Given the description of an element on the screen output the (x, y) to click on. 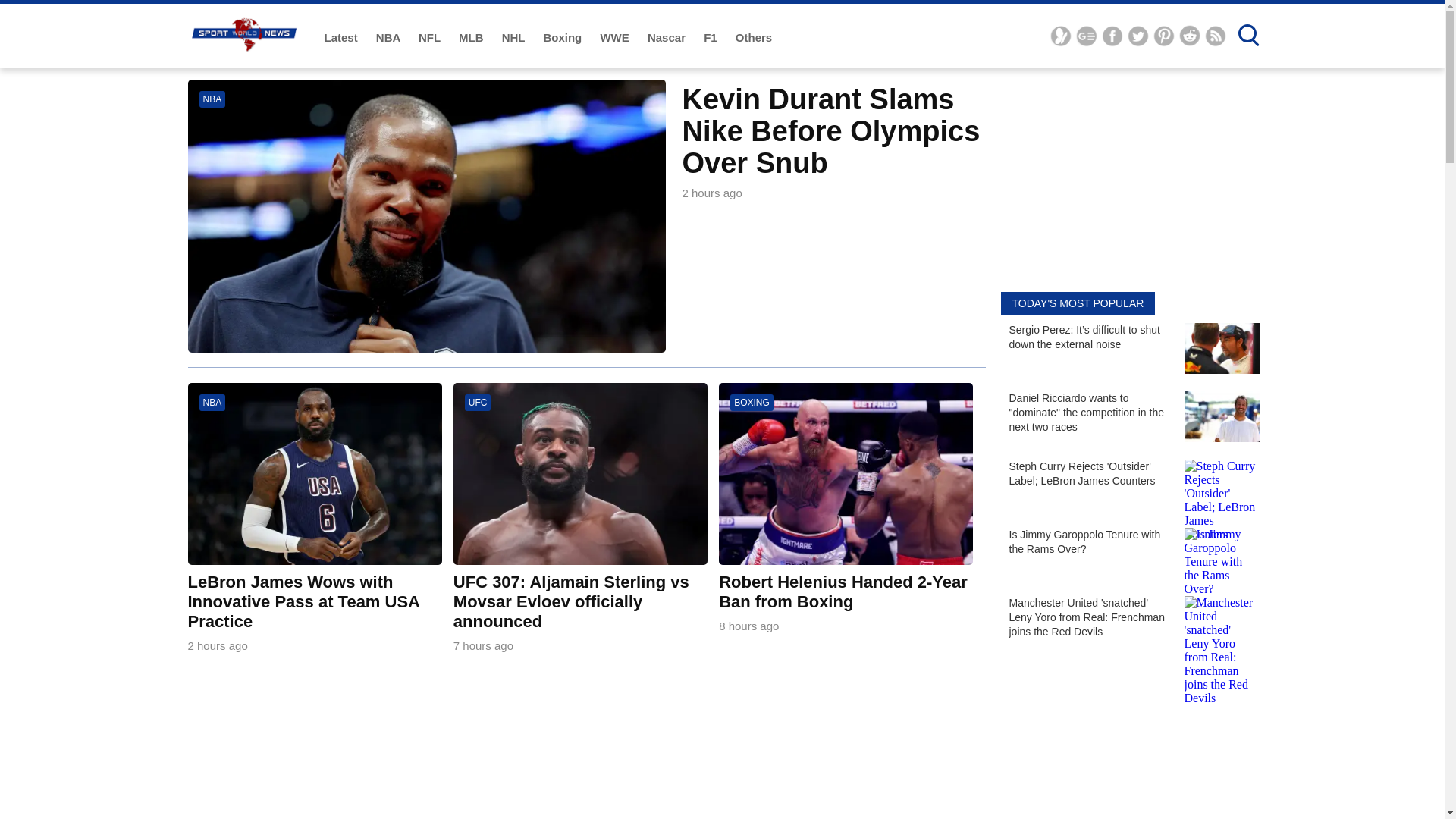
NBA (389, 37)
WWE (615, 37)
Nascar (667, 37)
F1 (711, 37)
Others (753, 37)
Latest (342, 37)
Boxing (564, 37)
MLB (472, 37)
NFL (431, 37)
NHL (515, 37)
